Given the description of an element on the screen output the (x, y) to click on. 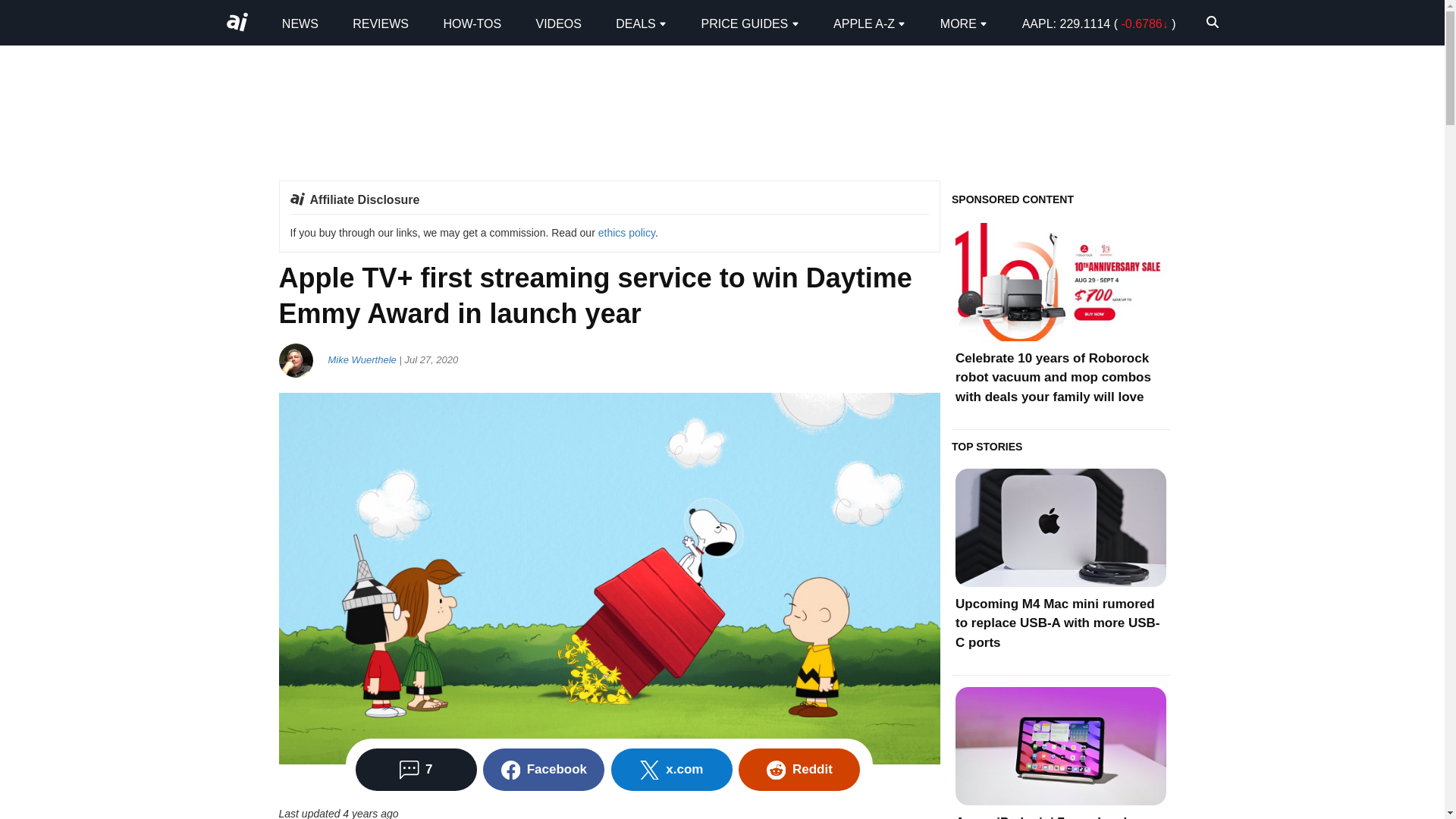
NEWS (300, 23)
Reviews (380, 23)
REVIEWS (380, 23)
HOW-TOS (471, 23)
News (300, 23)
How-Tos (471, 23)
Videos (557, 23)
VIDEOS (557, 23)
